Given the description of an element on the screen output the (x, y) to click on. 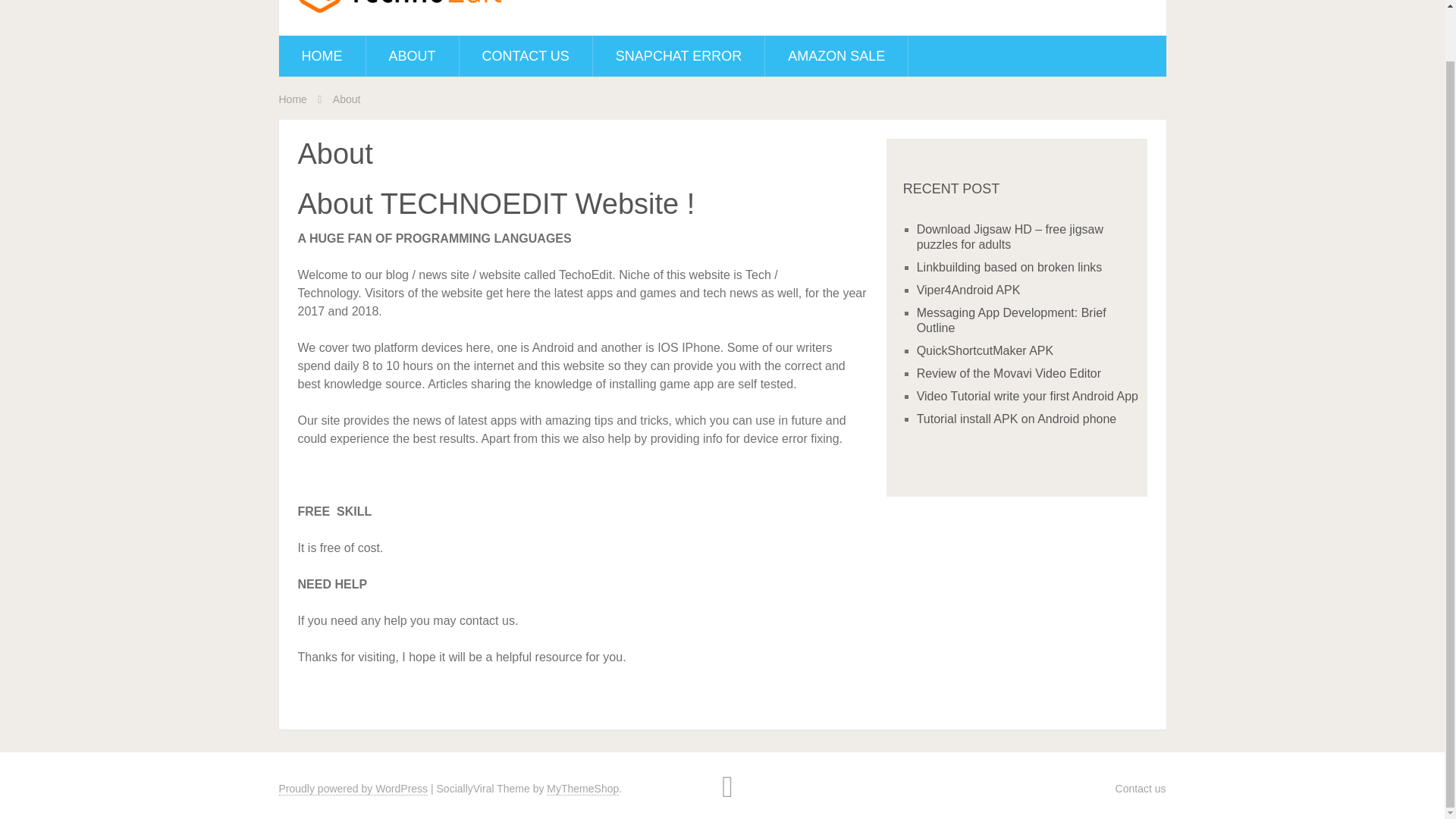
ABOUT (411, 56)
SNAPCHAT ERROR (678, 56)
Viper4Android APK (968, 289)
Proudly powered by WordPress (353, 788)
Linkbuilding based on broken links (1009, 267)
QuickShortcutMaker APK (985, 350)
Tutorial install APK on Android phone (1016, 418)
Review of the Movavi Video Editor (1008, 373)
Home (293, 99)
Messaging App Development: Brief Outline (1011, 320)
